Given the description of an element on the screen output the (x, y) to click on. 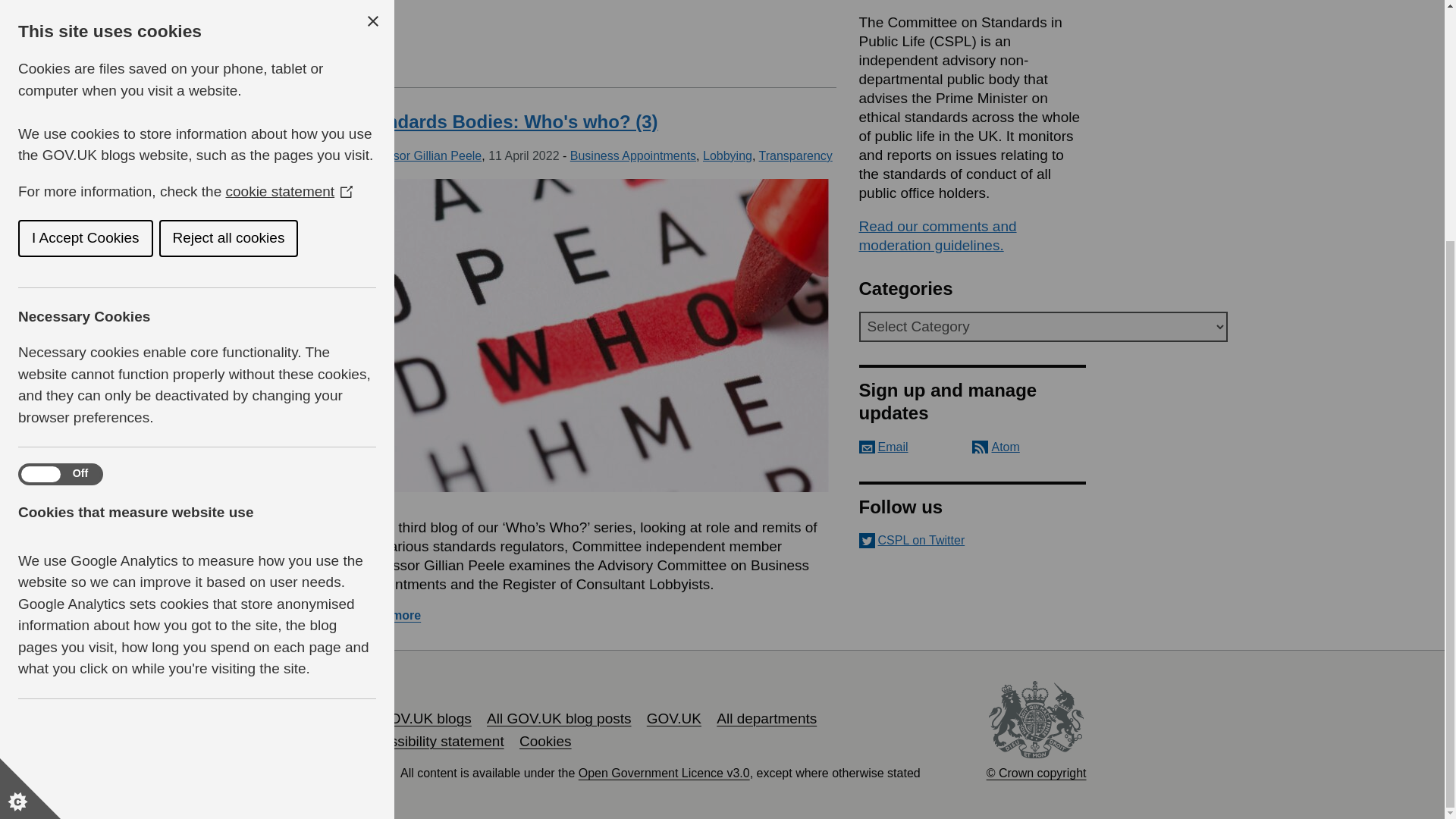
Email (883, 446)
Cookies (545, 741)
All GOV.UK blog posts (558, 718)
Business Appointments (632, 155)
All GOV.UK blogs (414, 718)
Posts by Professor Gillian Peele (419, 155)
Lobbying (727, 155)
Transparency (795, 155)
Open Government Licence v3.0 (663, 772)
GOV.UK (673, 718)
Accessibility statement (430, 741)
Professor Gillian Peele (419, 155)
CSPL on Twitter (972, 540)
Atom (995, 446)
Read our comments and moderation guidelines. (937, 235)
